Given the description of an element on the screen output the (x, y) to click on. 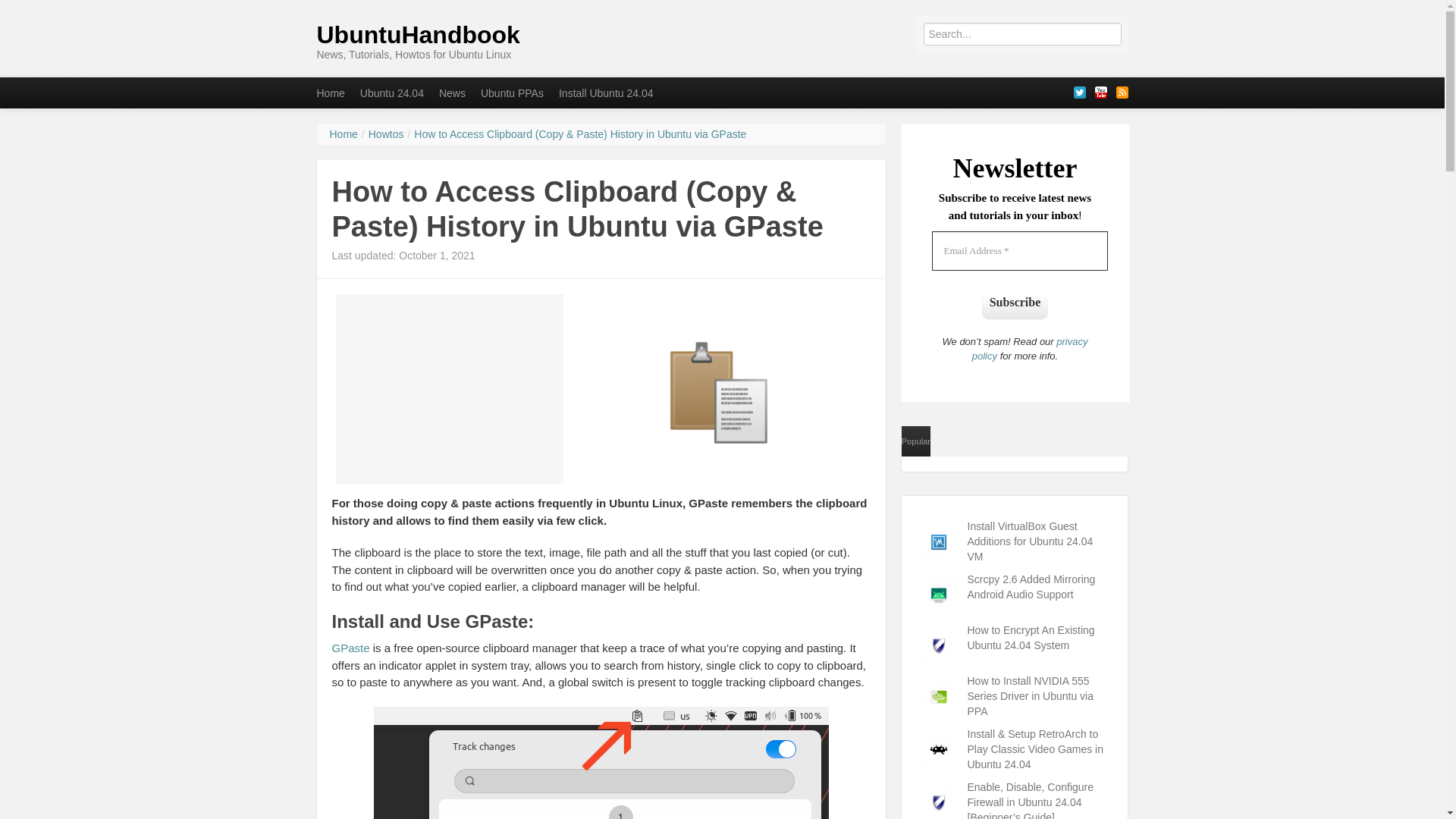
News (451, 92)
UbuntuHandbook (418, 34)
Ubuntu 24.04 (391, 92)
Install Ubuntu 24.04 (606, 92)
Home (330, 92)
Subscribe (1014, 301)
Ubuntu 24.04 (391, 92)
Ubuntu PPAs (512, 92)
Install Ubuntu 24.04 (606, 92)
News (451, 92)
